Given the description of an element on the screen output the (x, y) to click on. 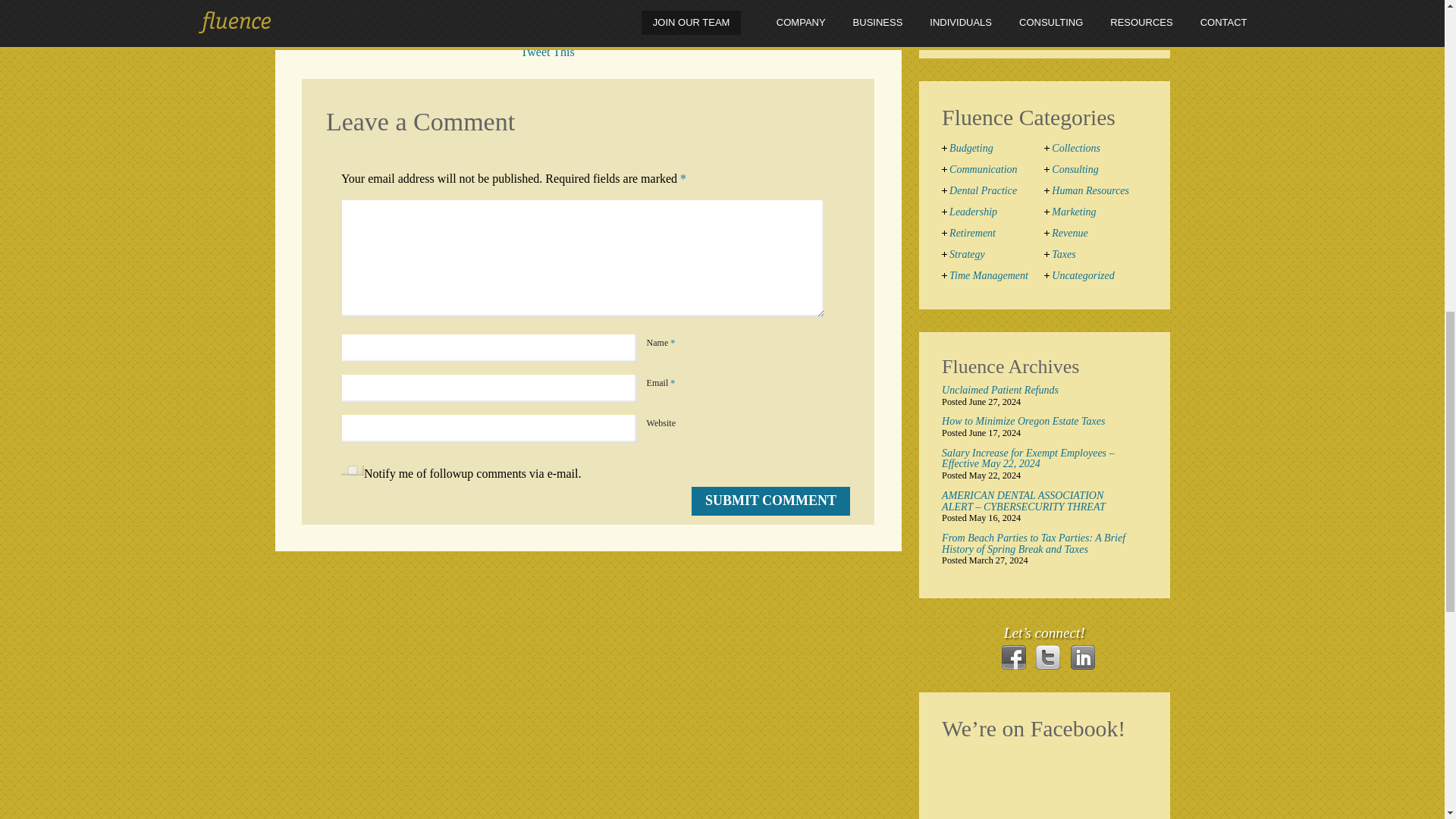
Submit Comment (770, 500)
Unclaimed Patient Refunds (1037, 390)
LinkedIn (1082, 657)
yes (352, 470)
How to Minimize Oregon Estate Taxes (1037, 421)
Facebook (1013, 657)
Tweet This (548, 51)
Twitter (1047, 657)
